Given the description of an element on the screen output the (x, y) to click on. 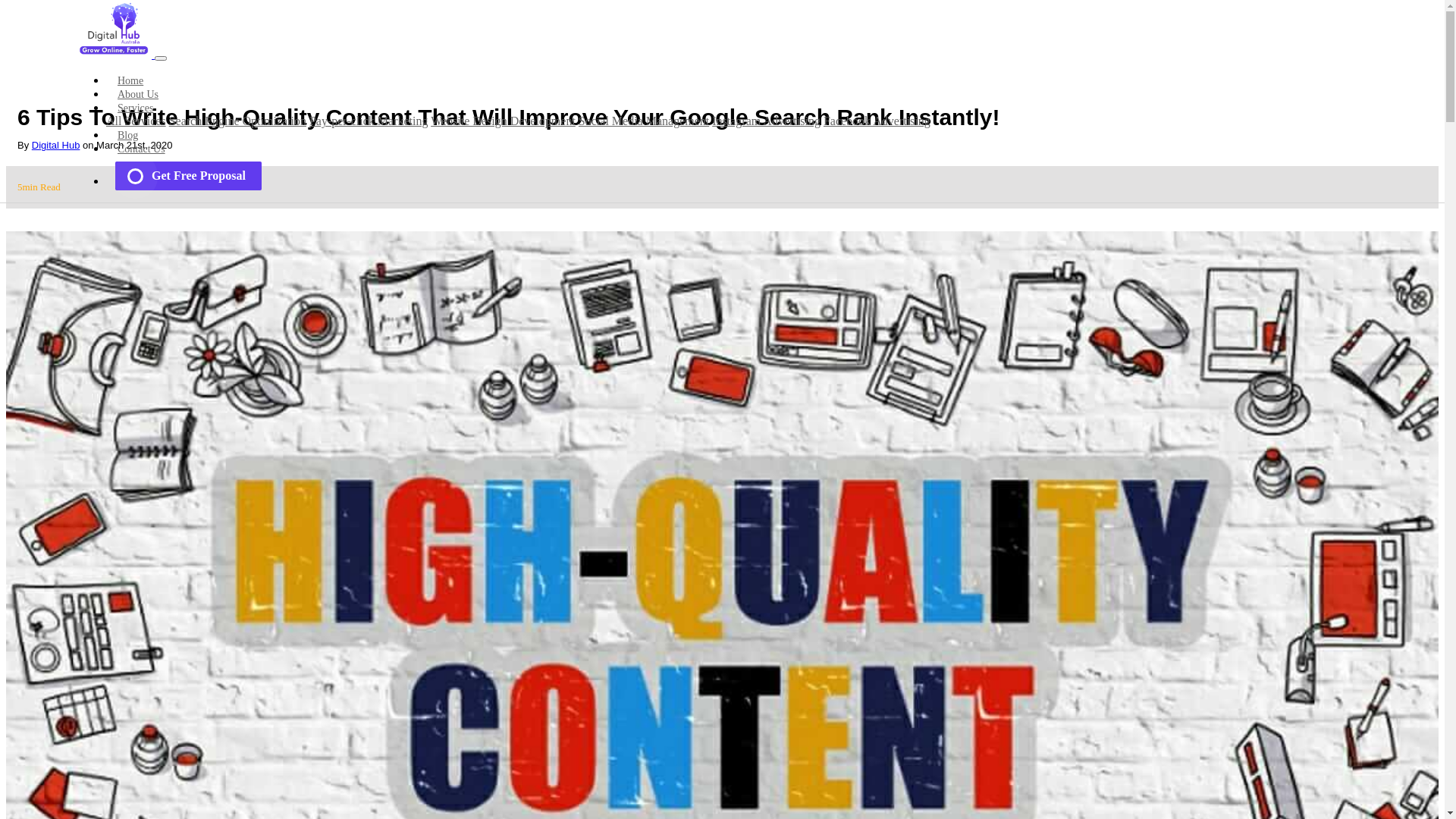
Website Design Development Element type: text (502, 120)
About Us Element type: text (137, 94)
Search Engine Optimization Element type: text (237, 120)
Instagram Advertising Element type: text (766, 120)
Facebook Advertising Element type: text (876, 120)
Digital Hub Element type: text (55, 144)
Home Element type: text (130, 80)
All Services Element type: text (136, 120)
Services Element type: text (135, 107)
Contact Us Element type: text (141, 148)
Social Media Management Element type: text (643, 120)
Pay-per-click Marketing Element type: text (368, 120)
Blog Element type: text (127, 134)
Get Free Proposal Element type: text (188, 175)
